Given the description of an element on the screen output the (x, y) to click on. 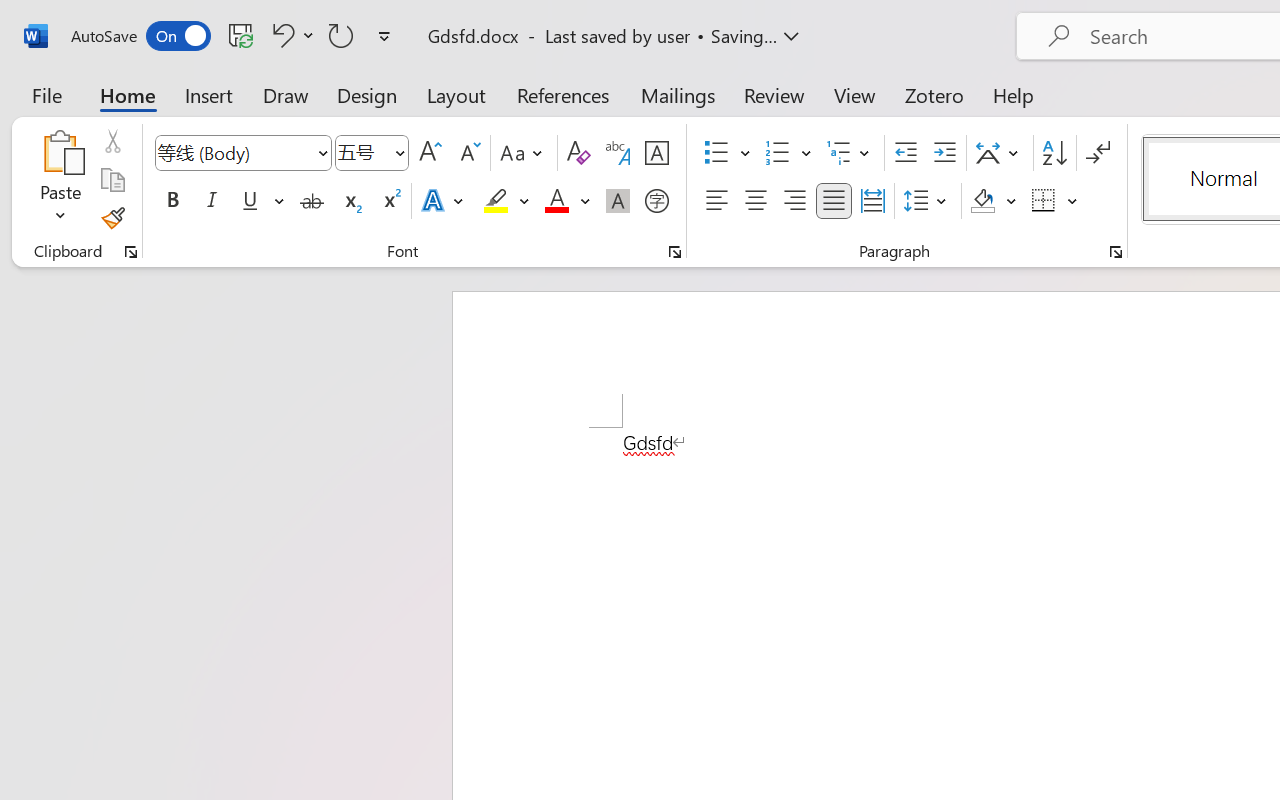
Undo ClearFormattingInner (280, 35)
